Given the description of an element on the screen output the (x, y) to click on. 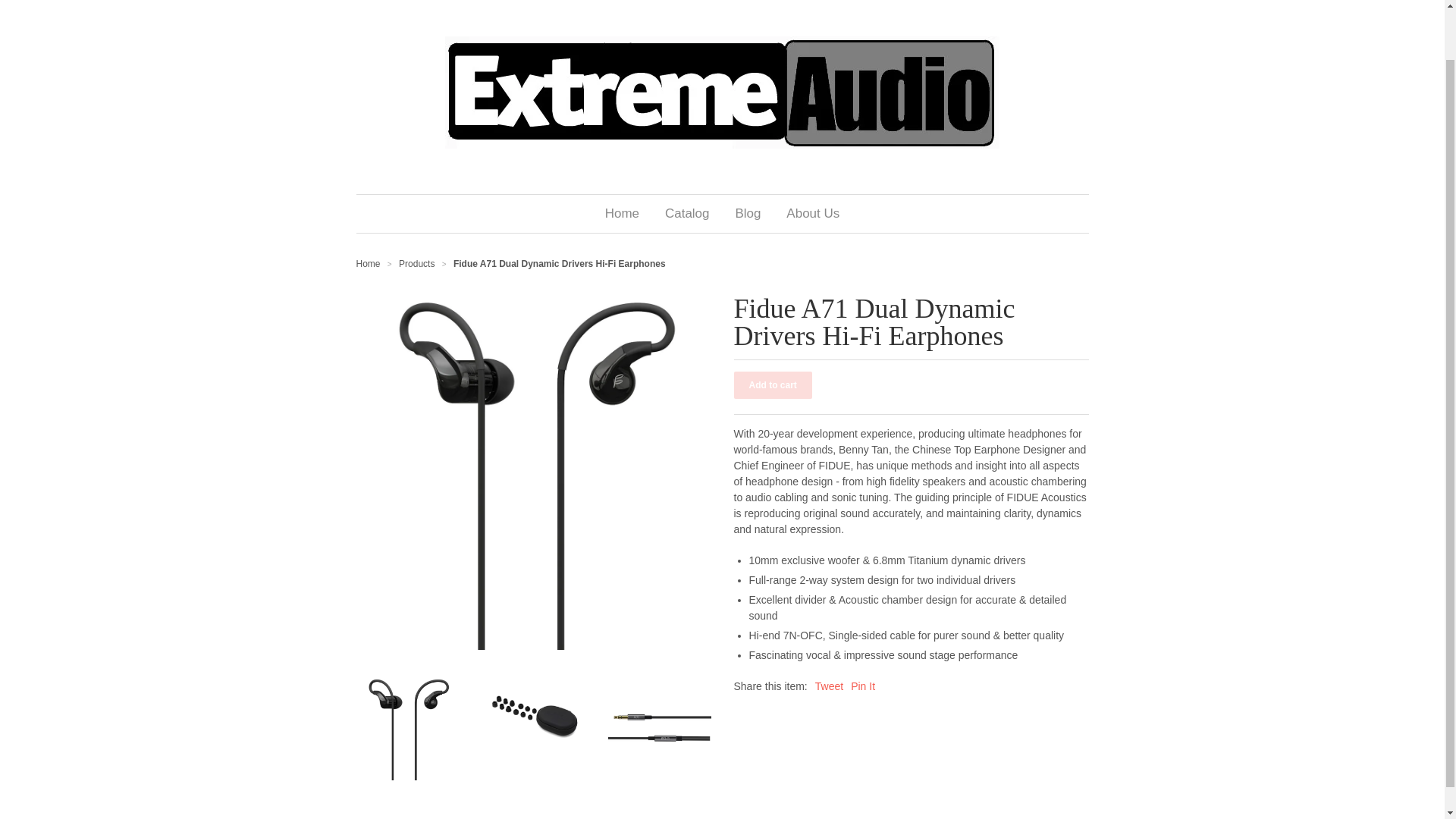
Tweet (829, 686)
Products (415, 263)
Home (622, 213)
Blog (747, 213)
Catalog (686, 213)
Home (368, 263)
About Us (812, 213)
All Products (415, 263)
Pin It (862, 686)
Add to cart (772, 384)
